Given the description of an element on the screen output the (x, y) to click on. 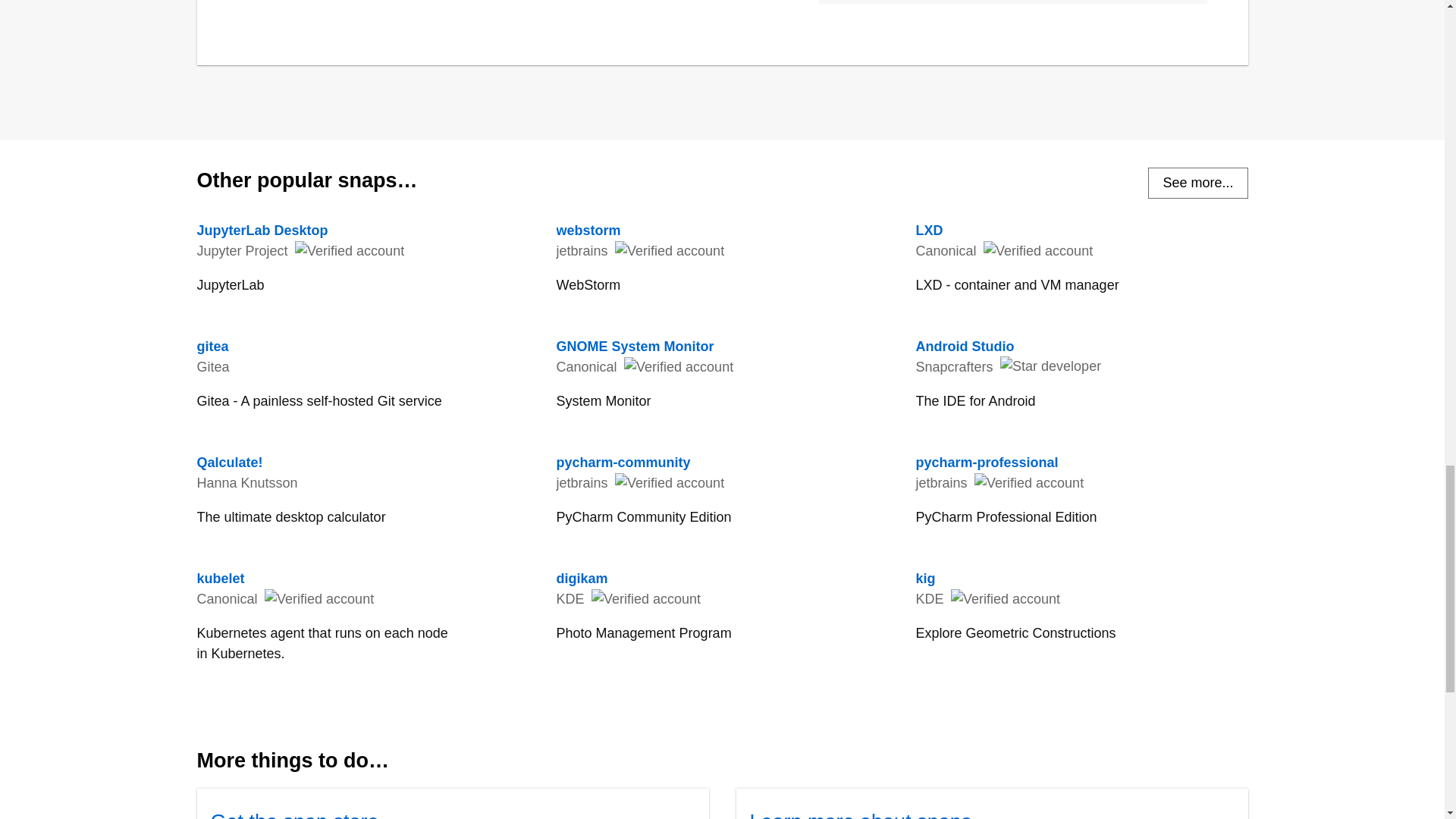
See more... (1197, 183)
